Given the description of an element on the screen output the (x, y) to click on. 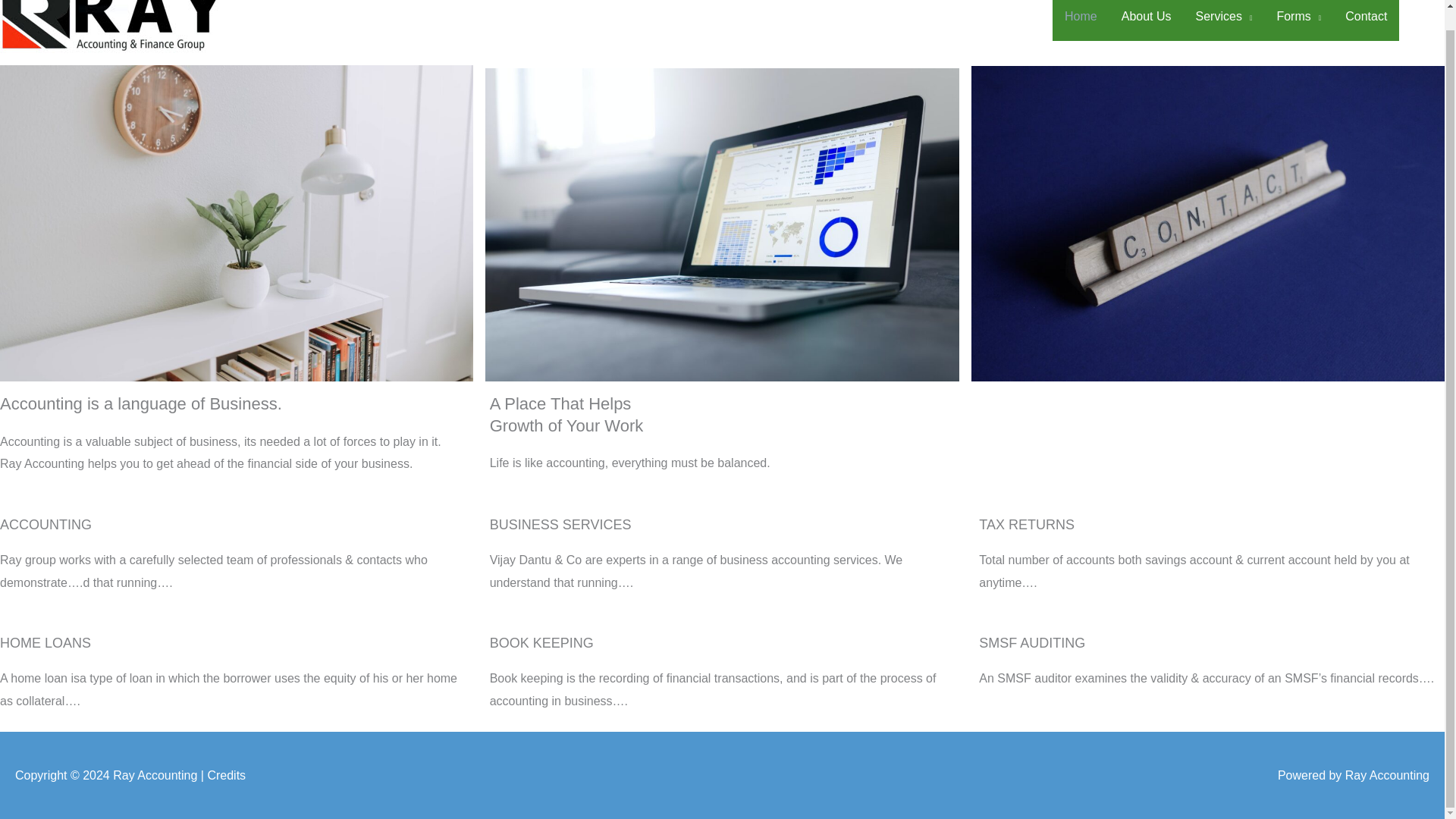
About Us (1146, 20)
Credits (226, 775)
Contact (1366, 20)
Forms (1298, 20)
Home (1080, 20)
Services (1224, 20)
